Given the description of an element on the screen output the (x, y) to click on. 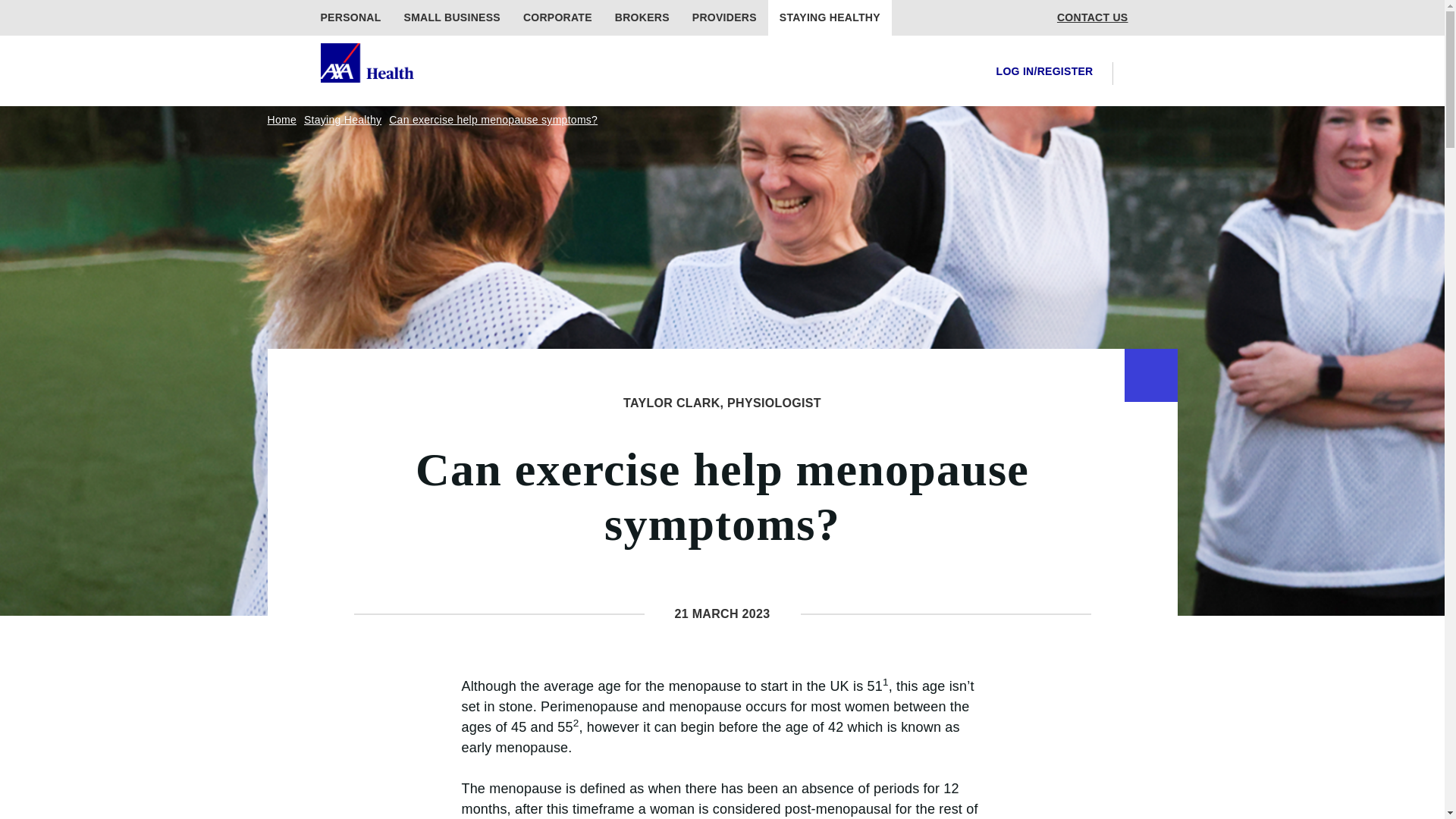
DATA-MENU-SEARCH-TRIGGER (1135, 72)
Home (280, 119)
PROVIDERS (724, 18)
BROKERS (642, 18)
Can exercise help menopause symptoms? (492, 119)
DATA-MENU-SEARCH-TRIGGER (1136, 72)
STAYING HEALTHY (829, 18)
CORPORATE (558, 18)
SMALL BUSINESS (452, 18)
PERSONAL (350, 18)
